Given the description of an element on the screen output the (x, y) to click on. 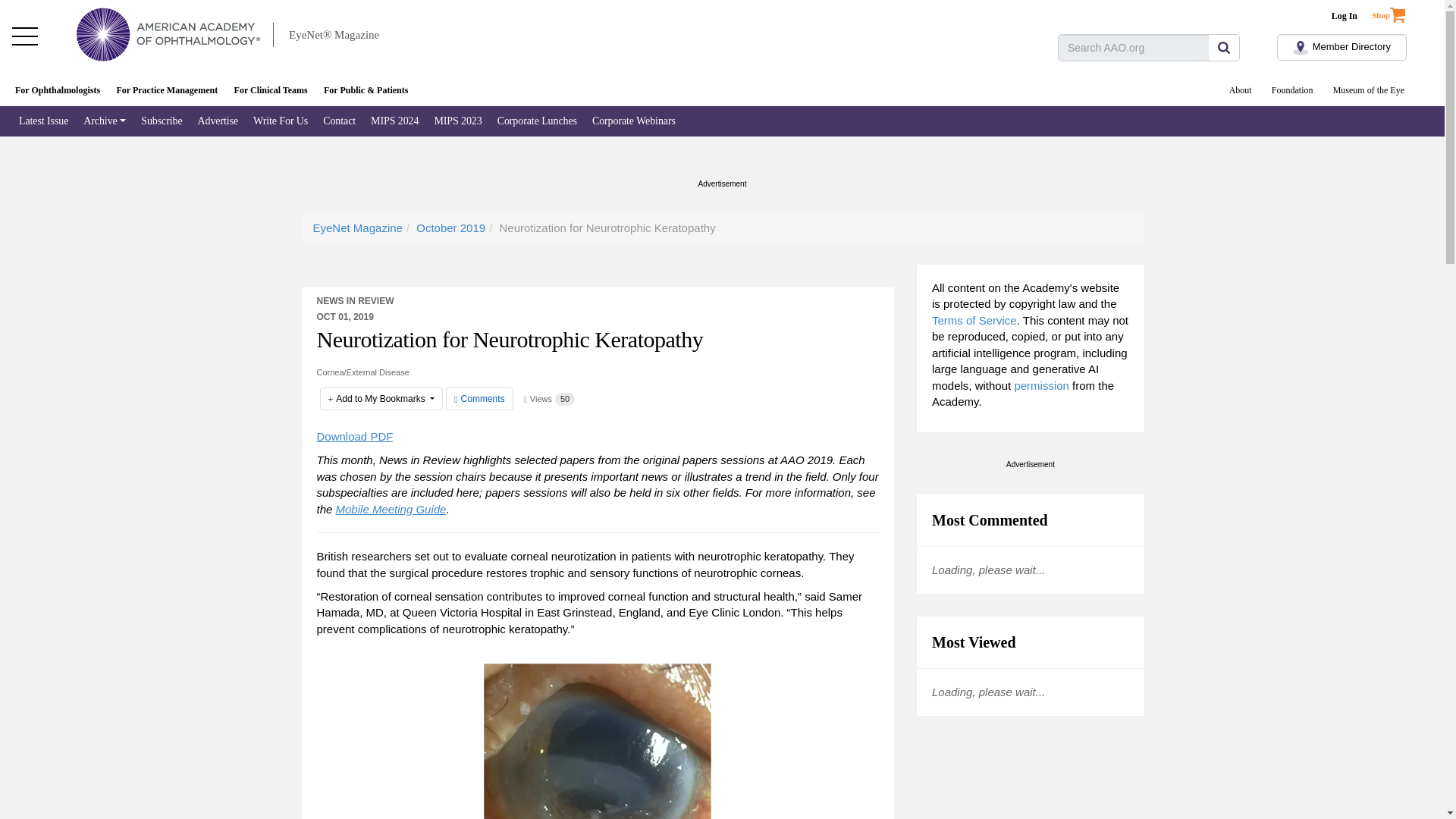
For Clinical Teams (270, 90)
Novel Tx (597, 741)
Latest Issue (43, 121)
For Practice Management (166, 90)
For Ophthalmologists (57, 90)
Foundation (1292, 90)
Archive (104, 121)
Shop (1397, 11)
About (1240, 90)
Museum of the Eye (1368, 90)
Log In (1344, 15)
